Given the description of an element on the screen output the (x, y) to click on. 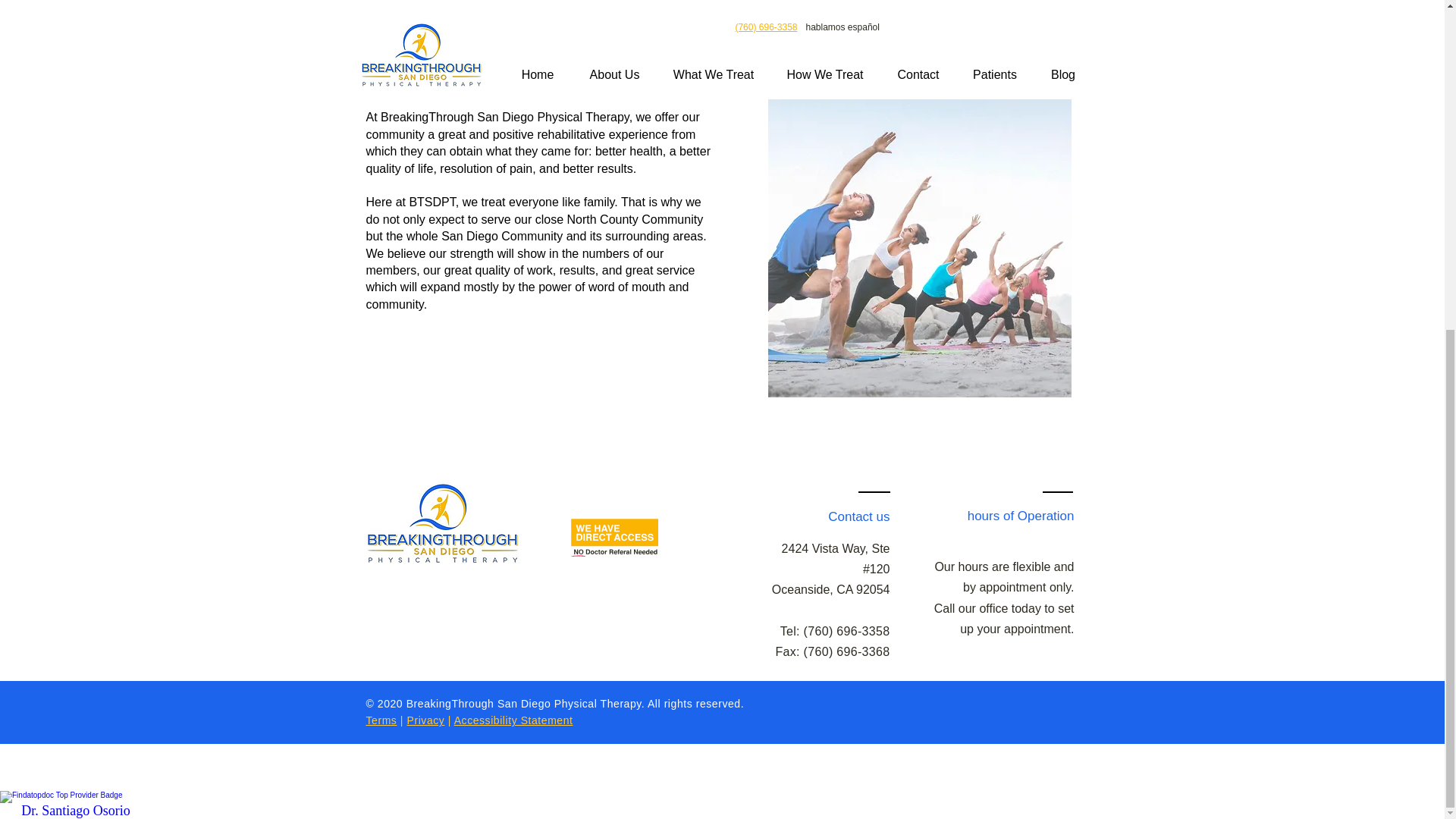
Terms (380, 720)
Accessibility Statement (513, 720)
Privacy (426, 720)
